Given the description of an element on the screen output the (x, y) to click on. 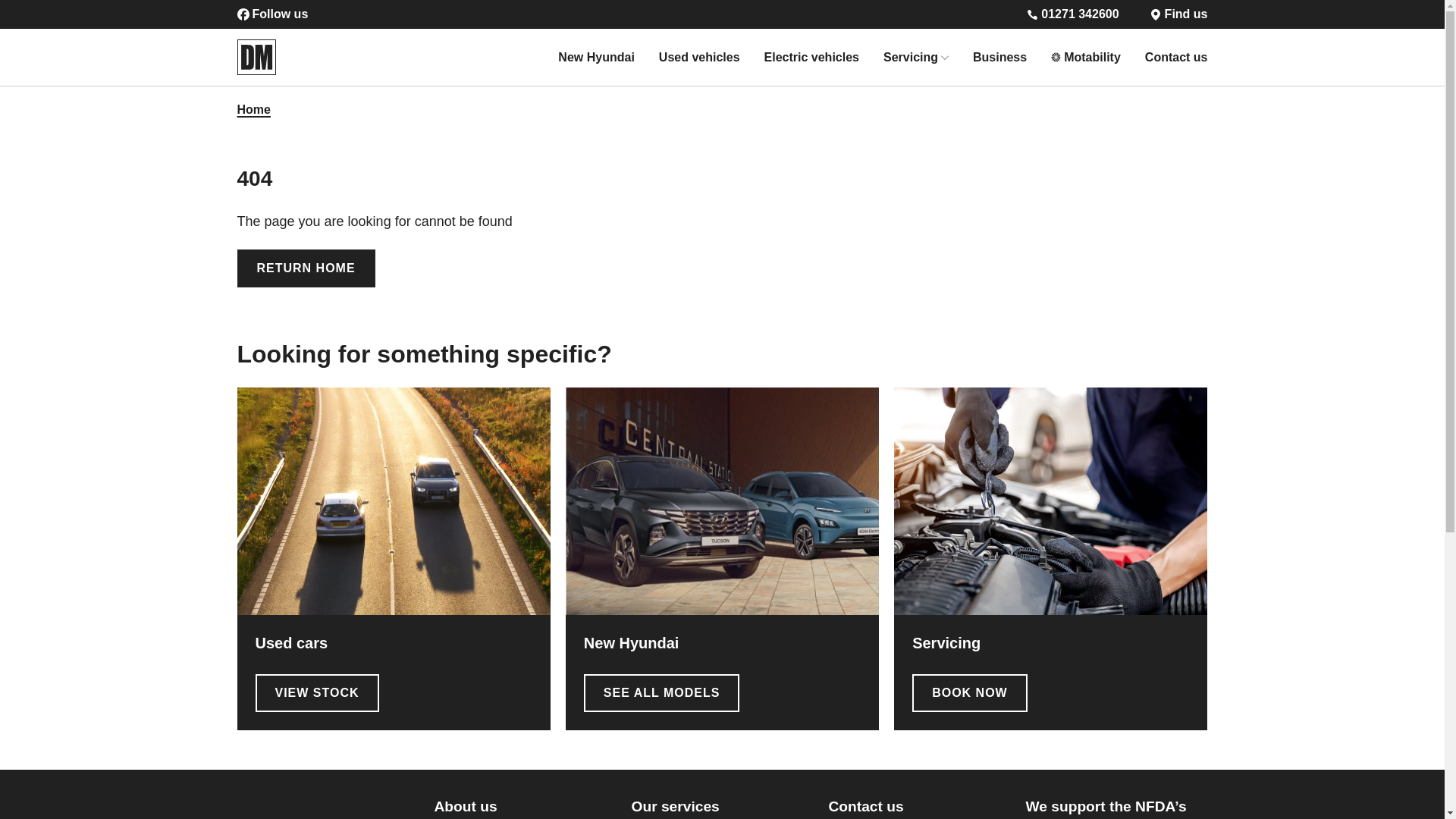
New Hyundai (595, 56)
Follow us (630, 14)
VIEW STOCK (316, 692)
RETURN HOME (304, 268)
Business (999, 56)
Servicing (910, 56)
Motability (1092, 56)
Used vehicles (699, 56)
Electric vehicles (811, 56)
BOOK NOW (969, 692)
